Given the description of an element on the screen output the (x, y) to click on. 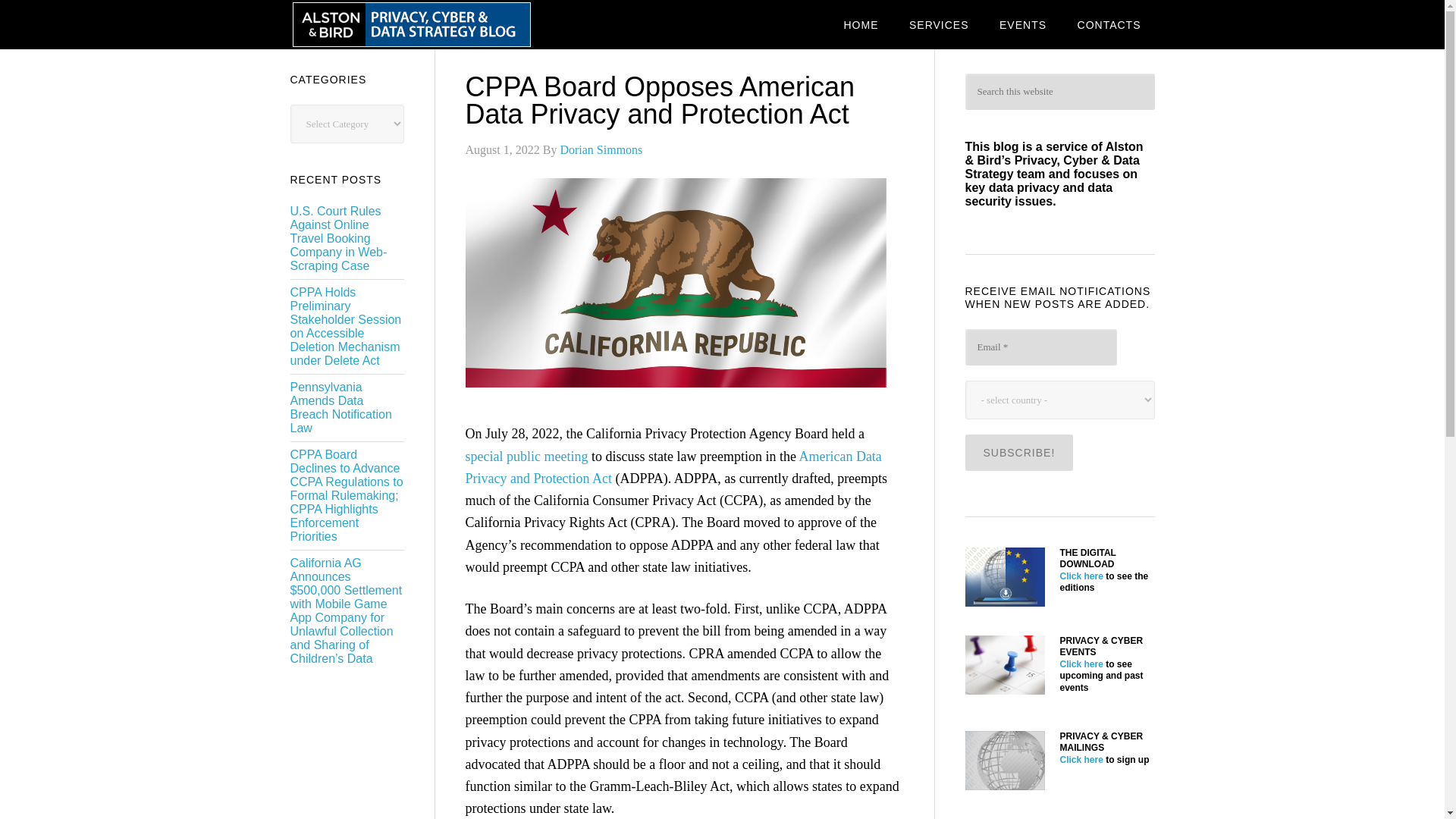
special public meeting (526, 456)
Click here (1081, 575)
Subscribe! (1018, 452)
Email (1039, 347)
Click here (1081, 759)
EVENTS (1022, 24)
American Data Privacy and Protection Act (673, 467)
Subscribe! (1018, 452)
Dorian Simmons (600, 149)
SERVICES (938, 24)
Posts by Dorian Simmons (600, 149)
CONTACTS (1109, 24)
HOME (860, 24)
